Given the description of an element on the screen output the (x, y) to click on. 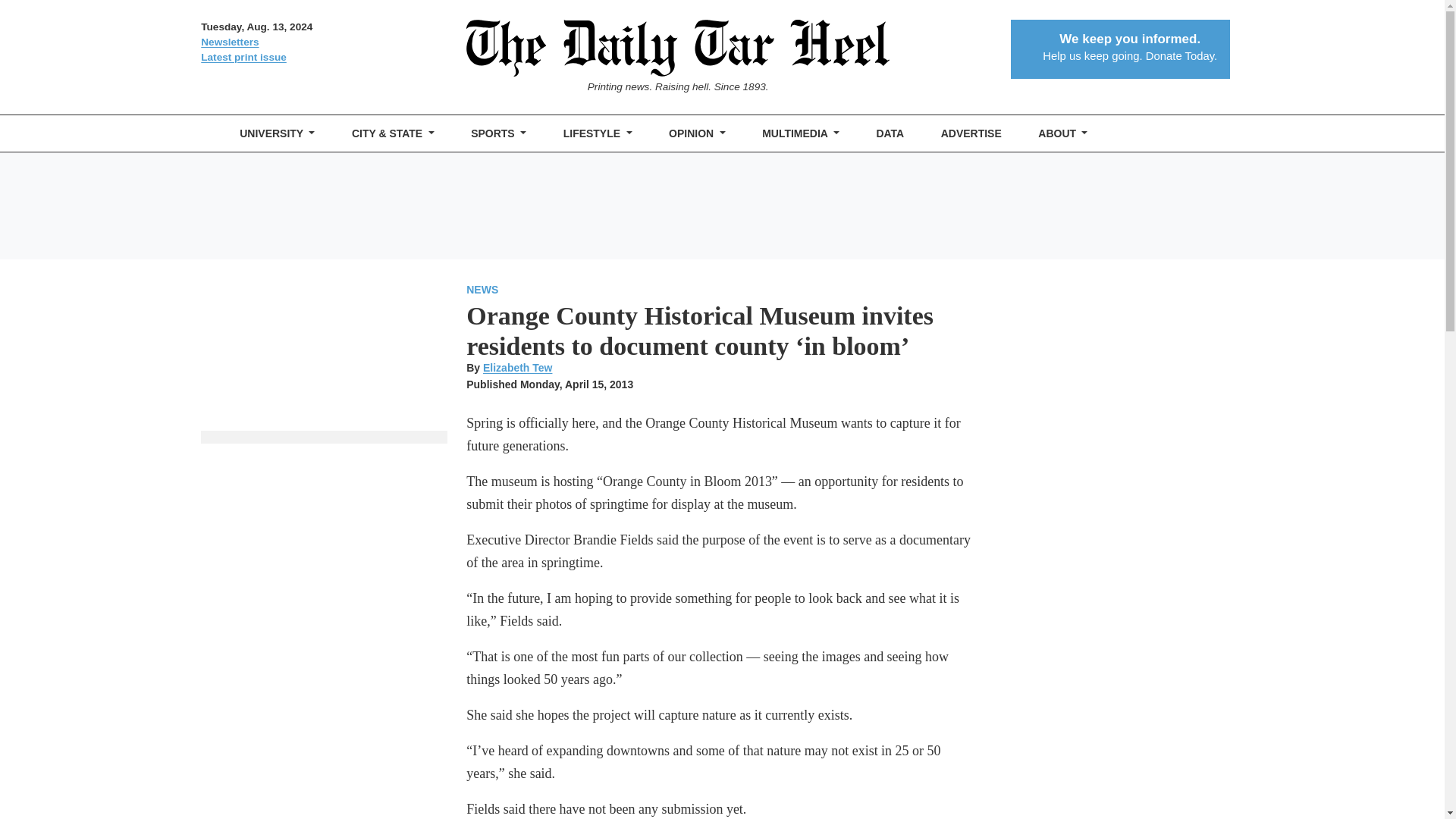
SPORTS (498, 132)
Data (890, 132)
Newsletters (323, 42)
Advertise (970, 132)
We keep you informed. (1129, 38)
LIFESTYLE (597, 132)
Latest print issue (323, 57)
UNIVERSITY (276, 132)
OPINION (697, 132)
